Given the description of an element on the screen output the (x, y) to click on. 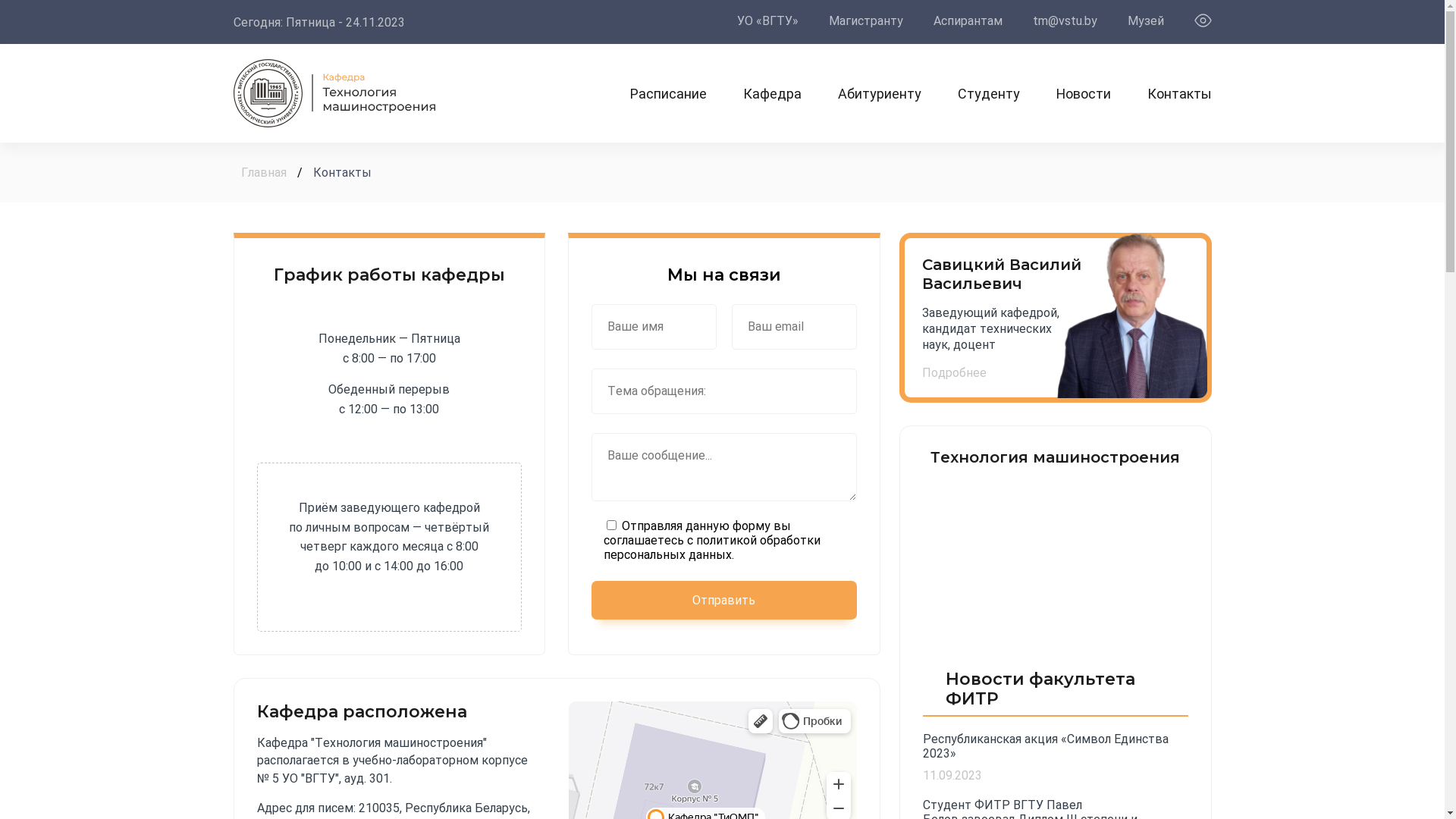
tm@vstu.by Element type: text (1064, 20)
YouTube video player Element type: hover (1054, 562)
